Given the description of an element on the screen output the (x, y) to click on. 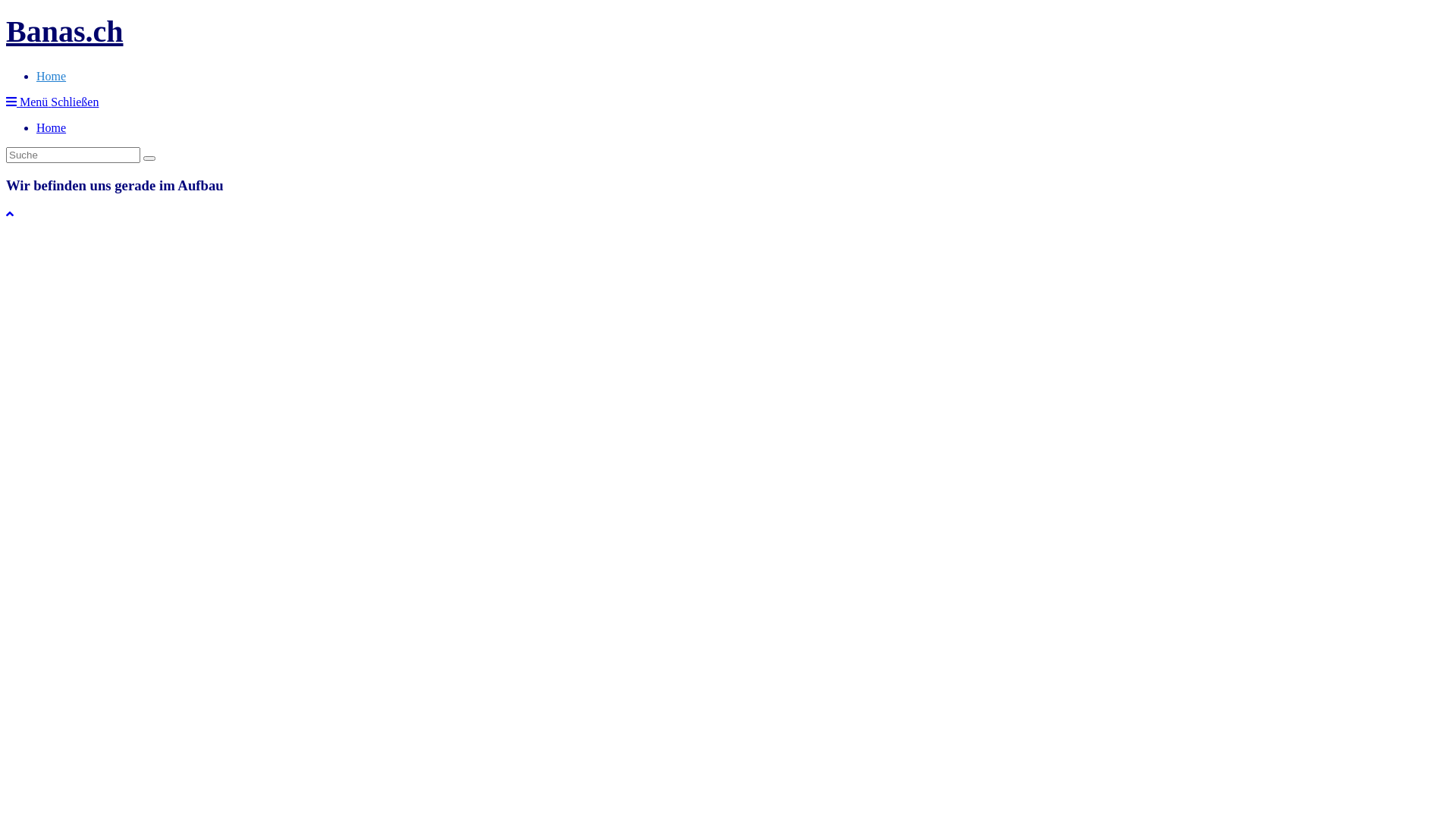
Banas.ch Element type: text (64, 31)
Zum Inhalt springen Element type: text (5, 5)
Home Element type: text (50, 127)
Home Element type: text (50, 75)
